Given the description of an element on the screen output the (x, y) to click on. 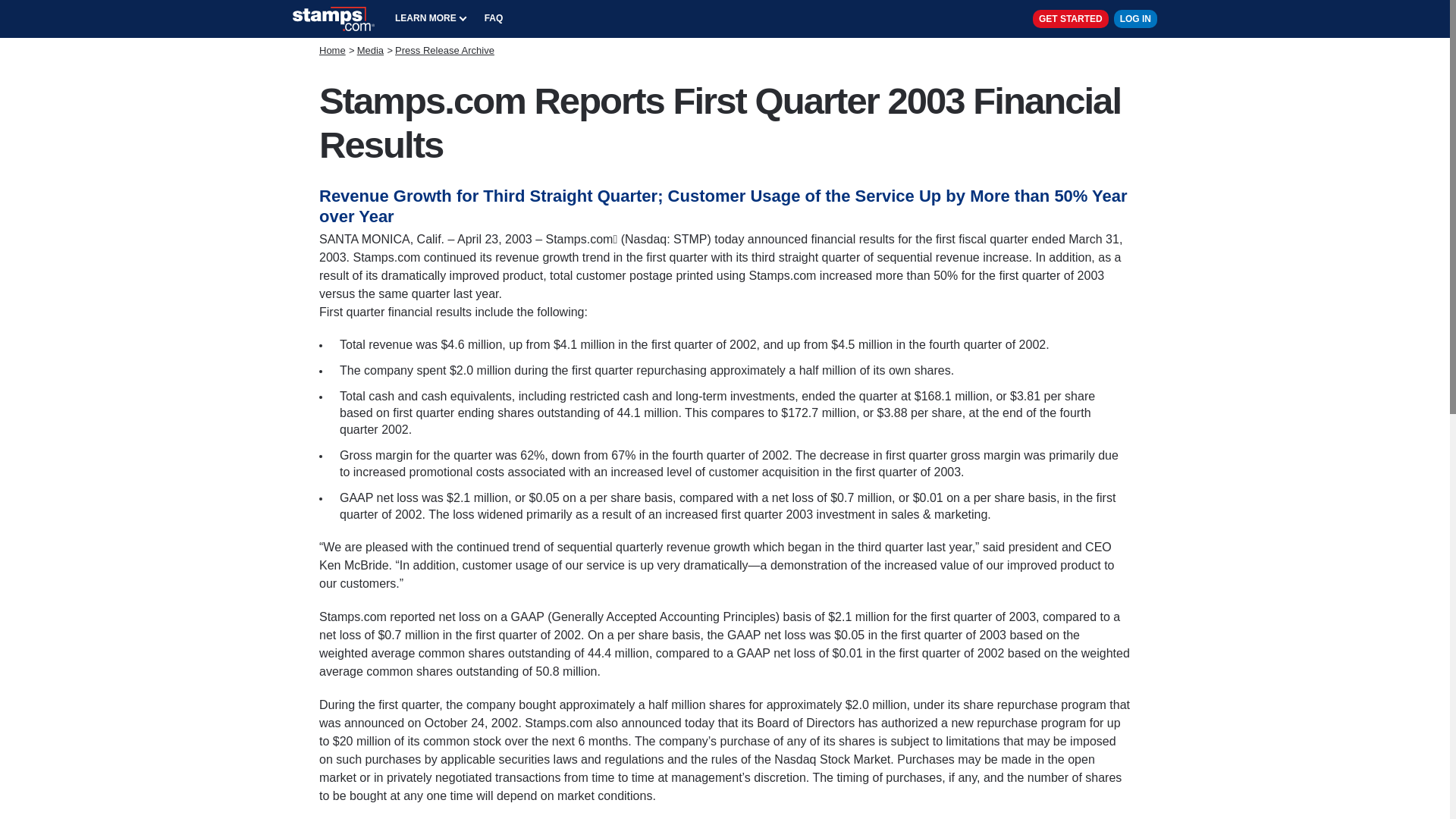
Learn More about Stamps products (430, 18)
Home (332, 50)
FAQ (494, 18)
FAQ (494, 18)
LOG IN (1135, 18)
LEARN MORE (430, 18)
GET STARTED (1070, 18)
Press Release Archive (444, 50)
Media (370, 50)
